Given the description of an element on the screen output the (x, y) to click on. 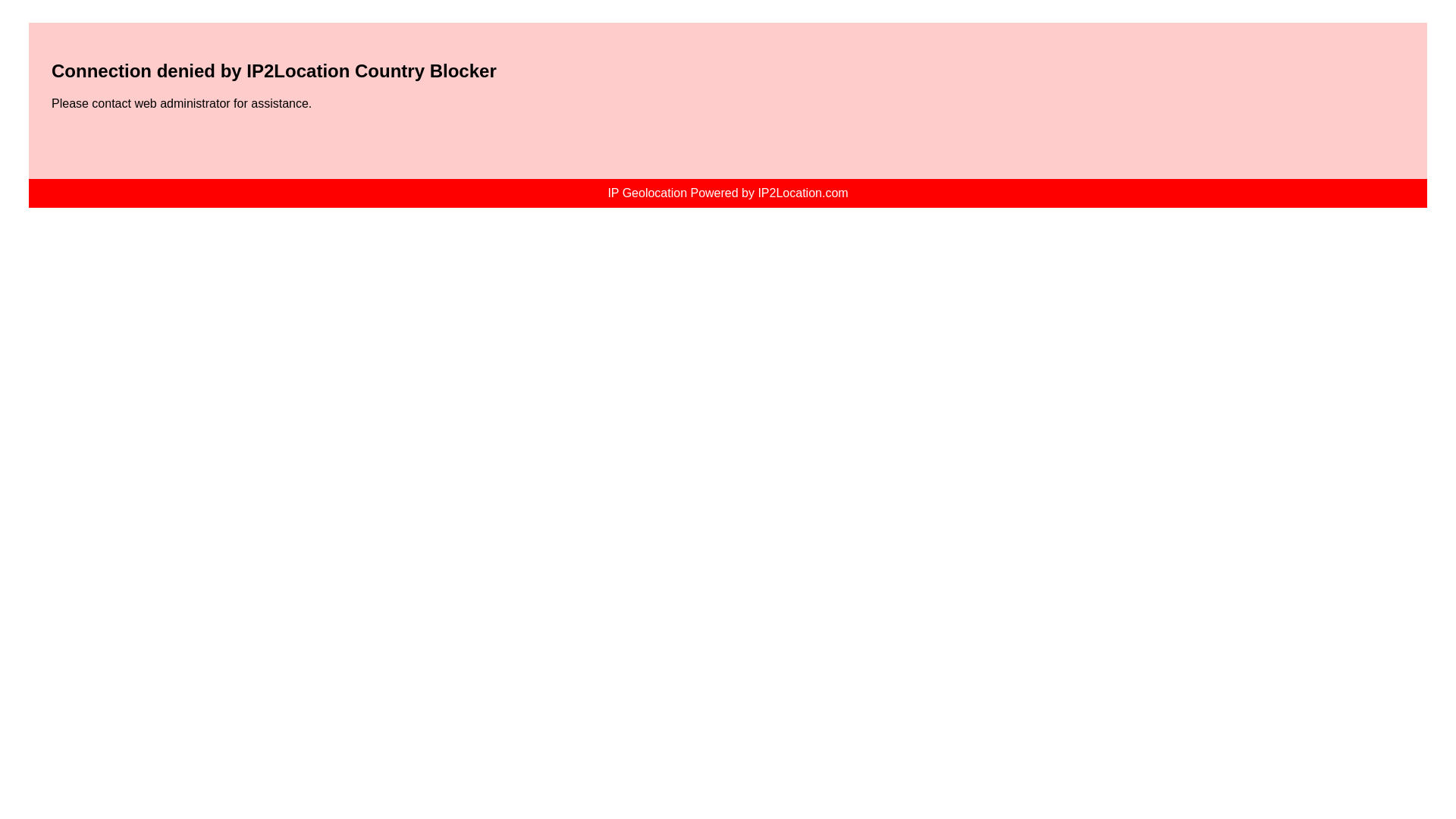
IP Geolocation Powered by IP2Location.com (727, 192)
